Given the description of an element on the screen output the (x, y) to click on. 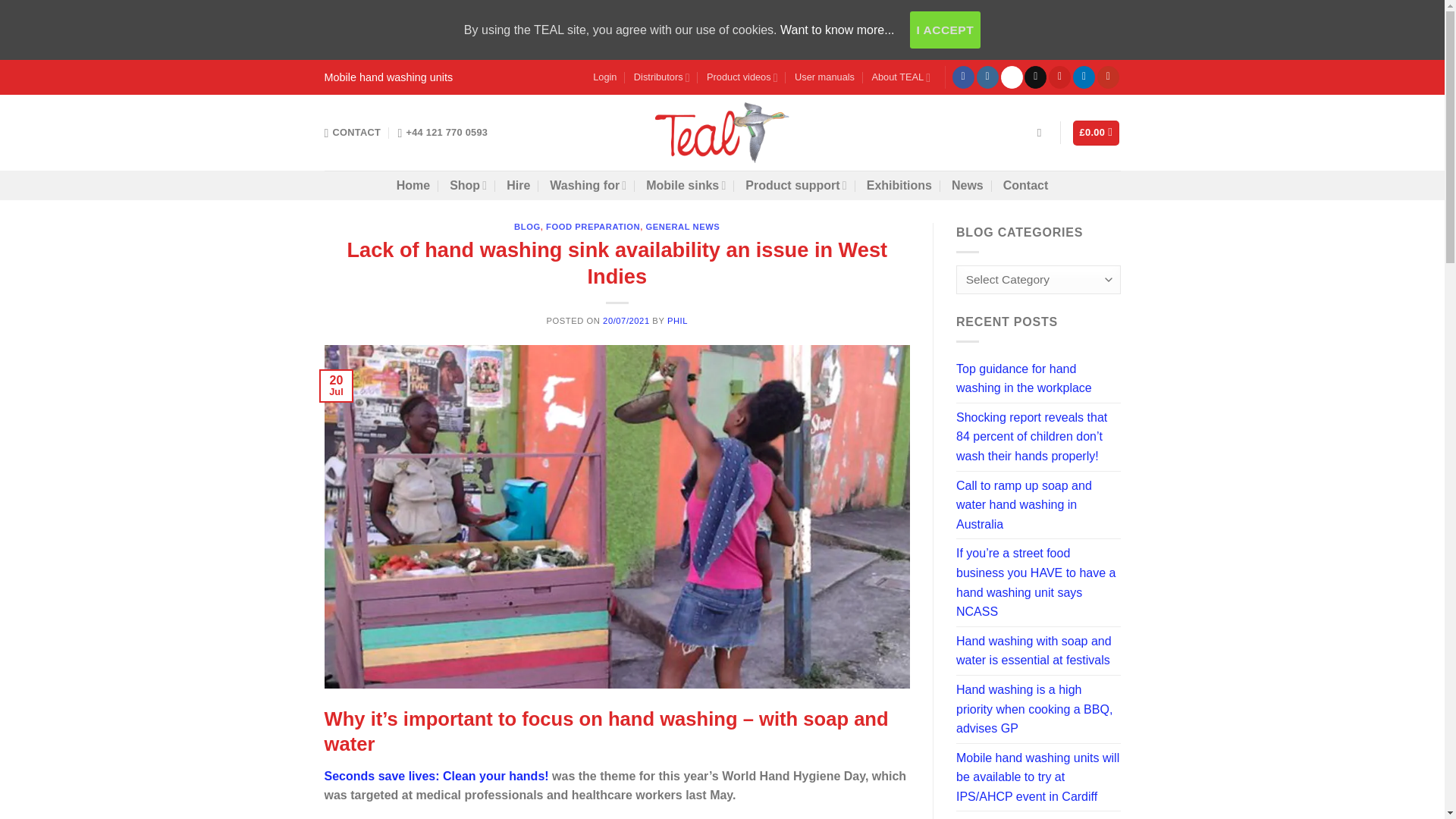
Follow on Instagram (987, 77)
Follow on Facebook (963, 77)
Follow on LinkedIn (1083, 77)
About TEAL (900, 77)
Send us an email (1035, 77)
CONTACT (352, 132)
User manuals (824, 77)
Distributors (661, 77)
Follow on Pinterest (1059, 77)
Basket (1096, 132)
